Given the description of an element on the screen output the (x, y) to click on. 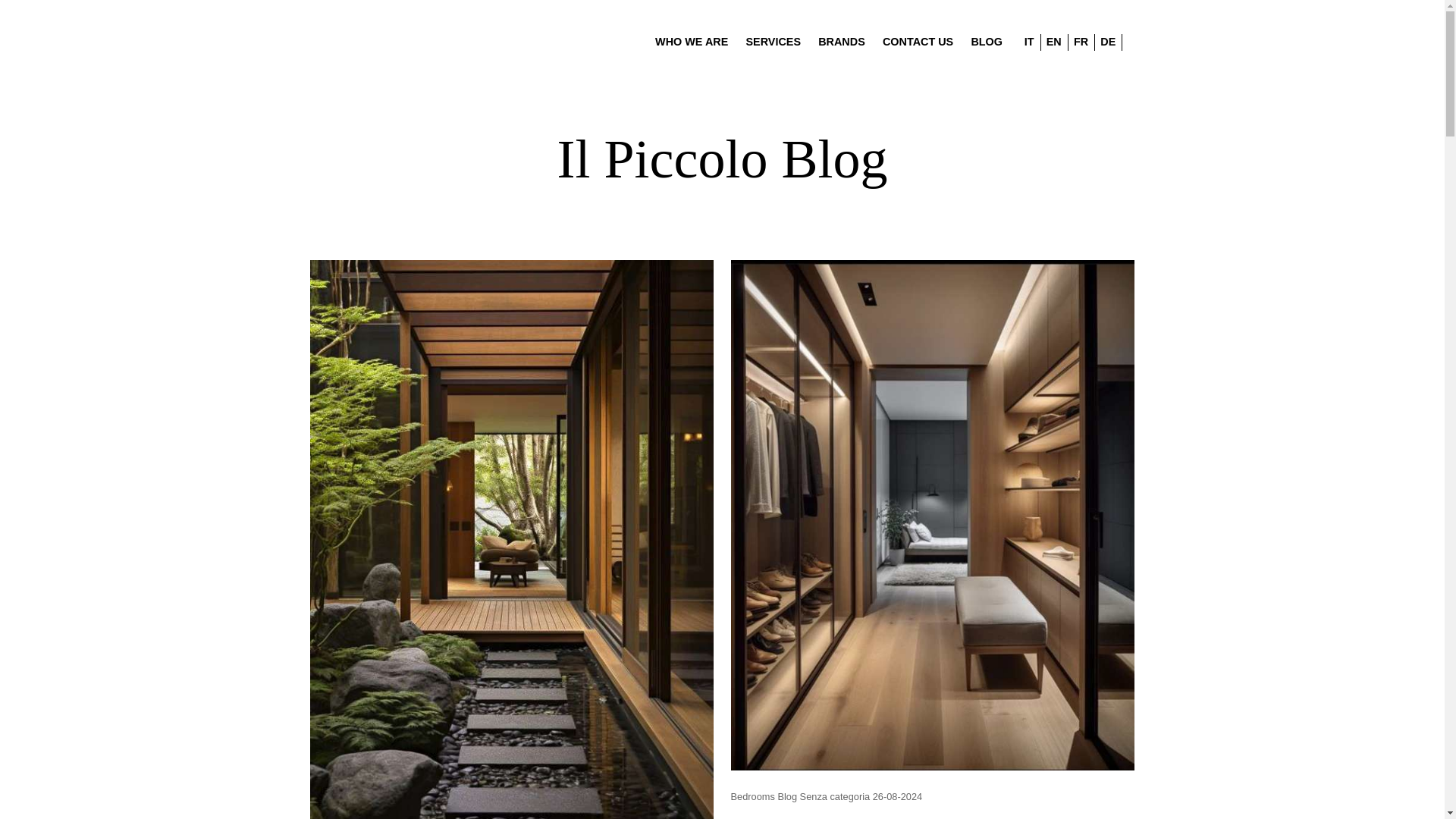
EN (1053, 41)
BLOG (987, 41)
WHO WE ARE (691, 41)
FR (1080, 41)
CONTACT US (917, 41)
BRANDS (841, 41)
DE (1107, 41)
SERVICES (772, 41)
